Given the description of an element on the screen output the (x, y) to click on. 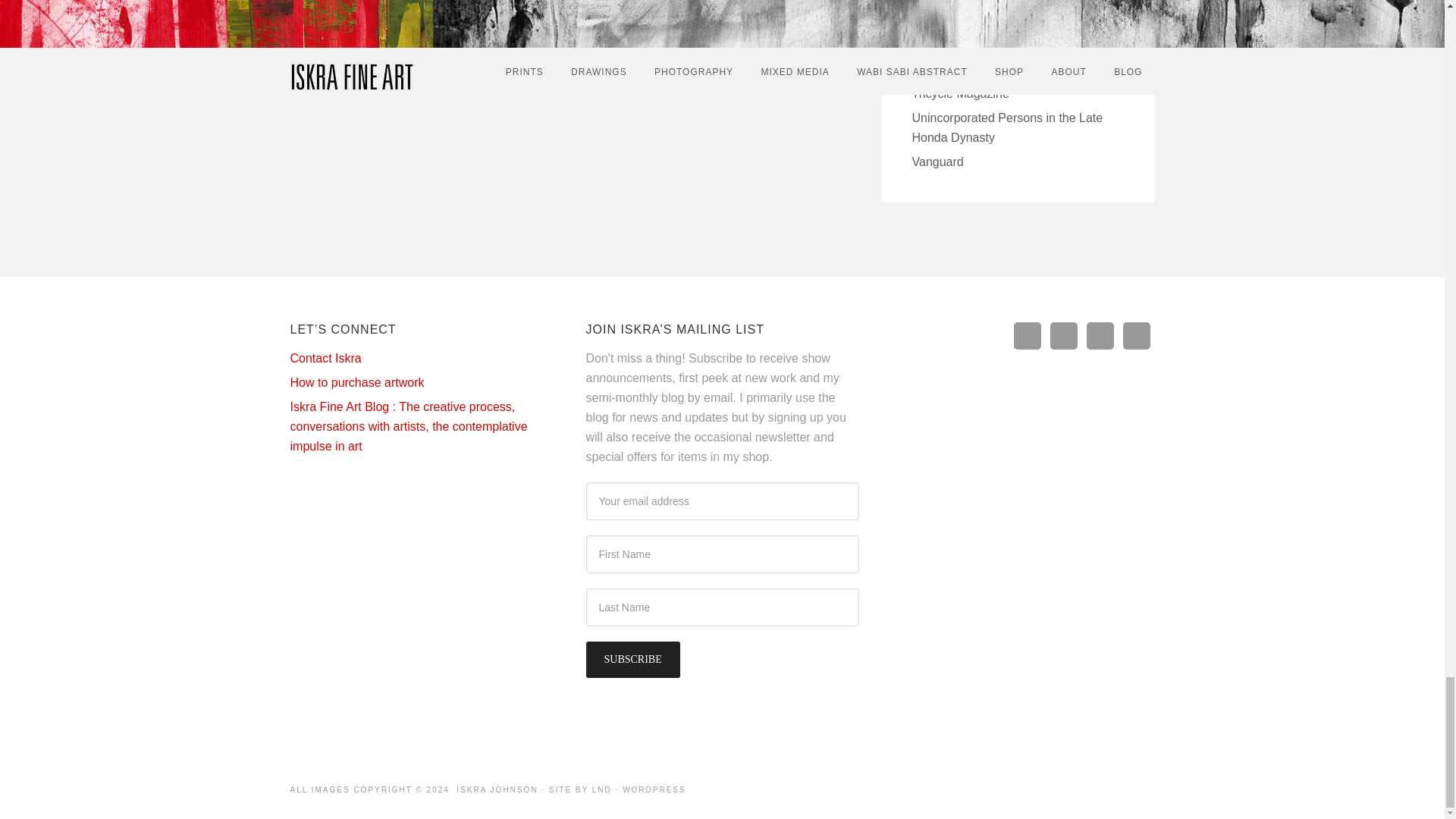
Subscribe (632, 659)
